Given the description of an element on the screen output the (x, y) to click on. 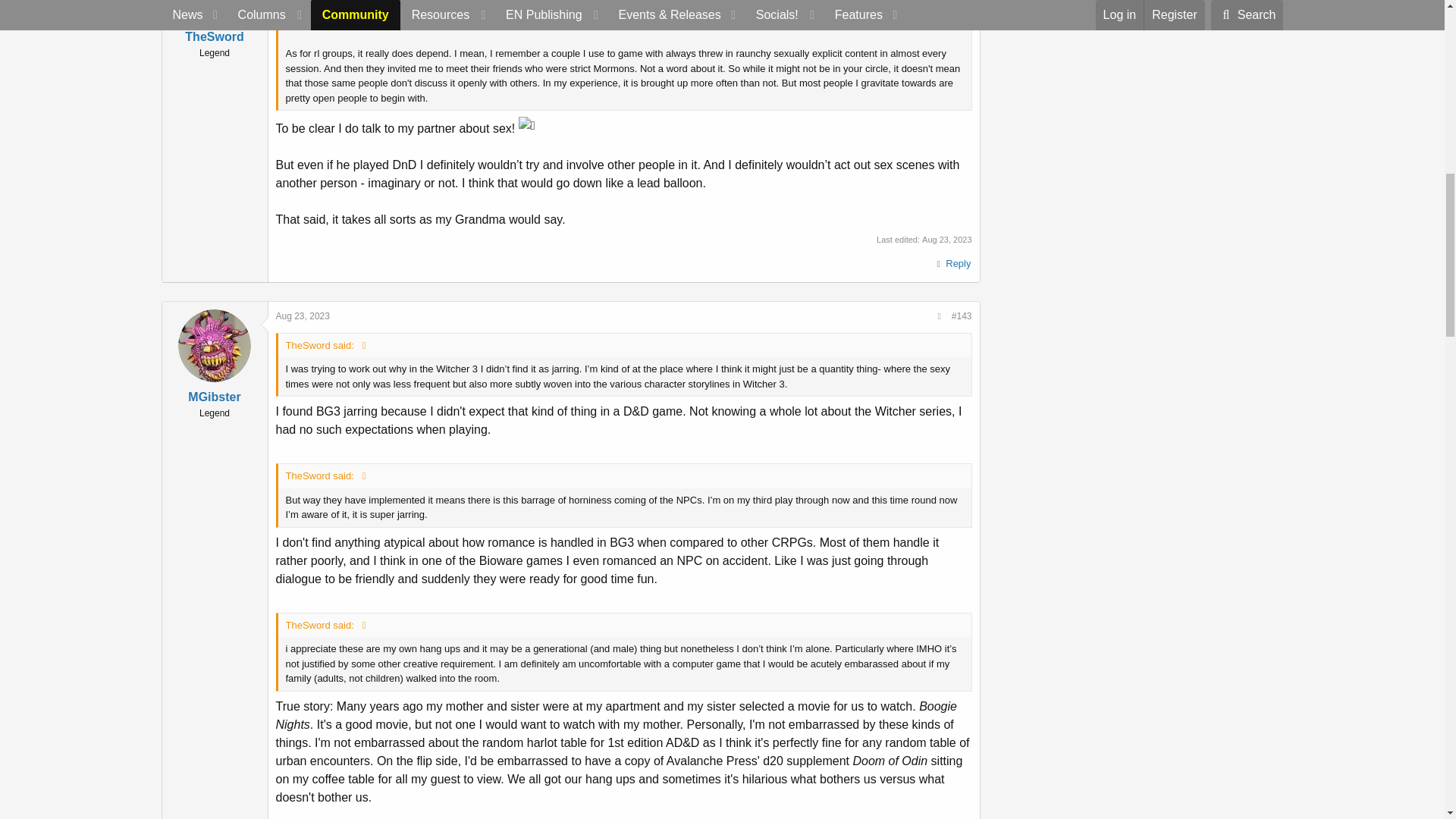
Reply, quoting this message (952, 816)
Aug 23, 2023 at 6:27 PM (303, 316)
Reply, quoting this message (952, 263)
Aug 23, 2023 at 6:51 PM (946, 239)
